Given the description of an element on the screen output the (x, y) to click on. 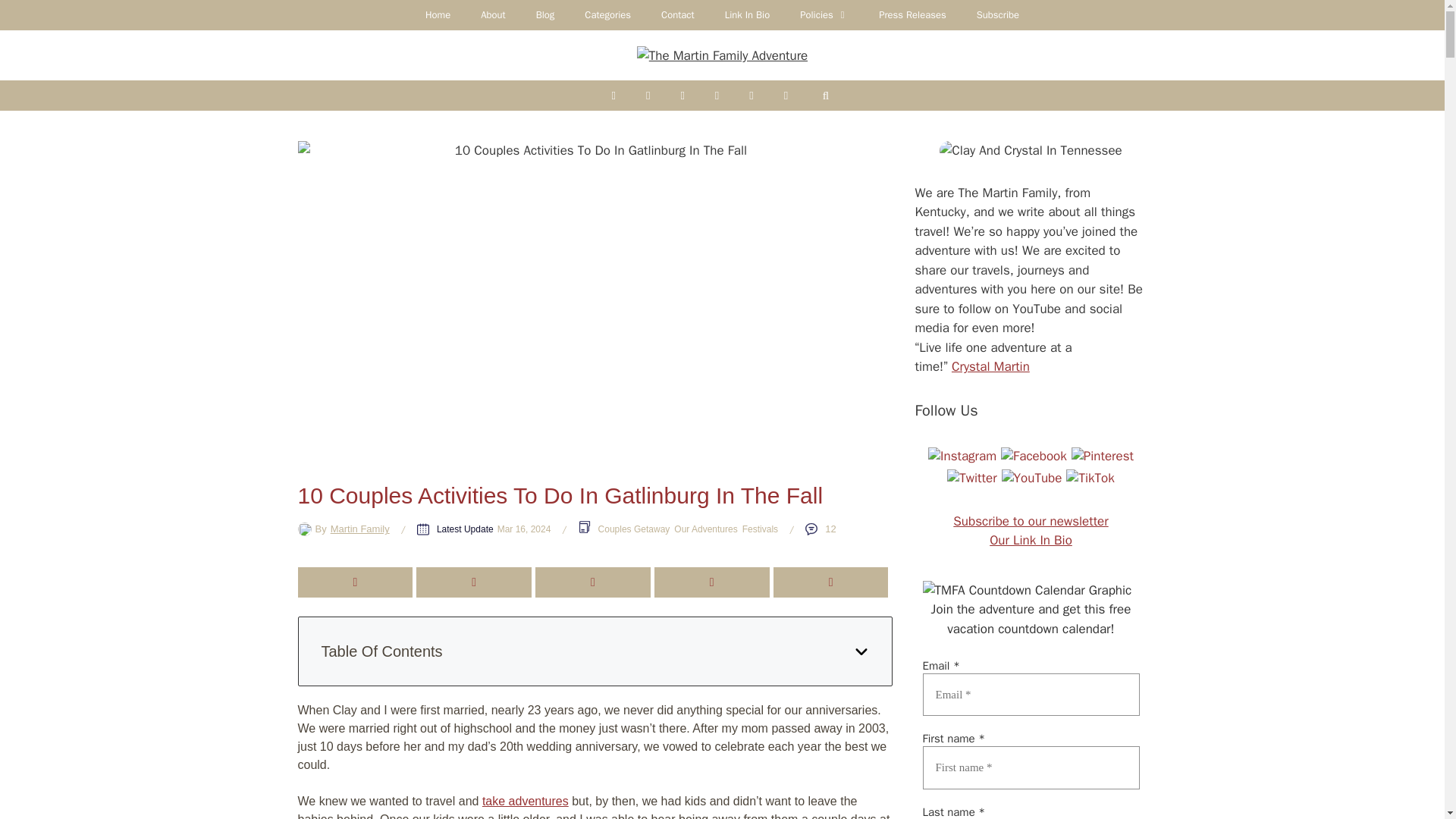
Categories (607, 15)
About (492, 15)
Policies (823, 15)
Couples Getaway (633, 529)
Martin Family (360, 529)
Press Releases (911, 15)
Link In Bio (747, 15)
Our Adventures (705, 529)
Subscribe (996, 15)
Blog (545, 15)
